Given the description of an element on the screen output the (x, y) to click on. 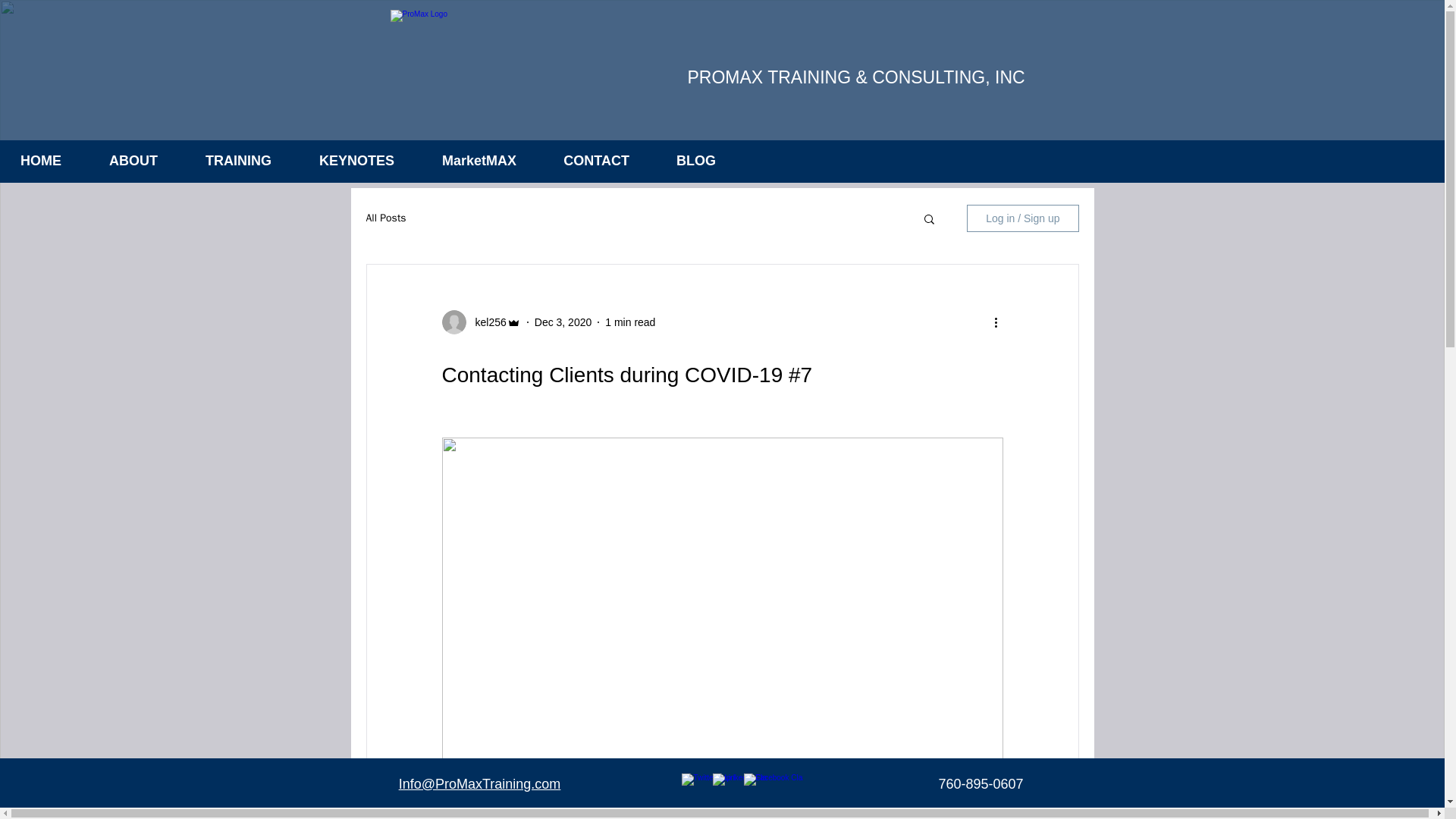
KEYNOTES (344, 160)
ABOUT (120, 160)
HOME (36, 160)
Dec 3, 2020 (563, 321)
All Posts (385, 218)
MarketMAX (466, 160)
1 min read (630, 321)
BLOG (683, 160)
kel256 (485, 321)
CONTACT (583, 160)
